Given the description of an element on the screen output the (x, y) to click on. 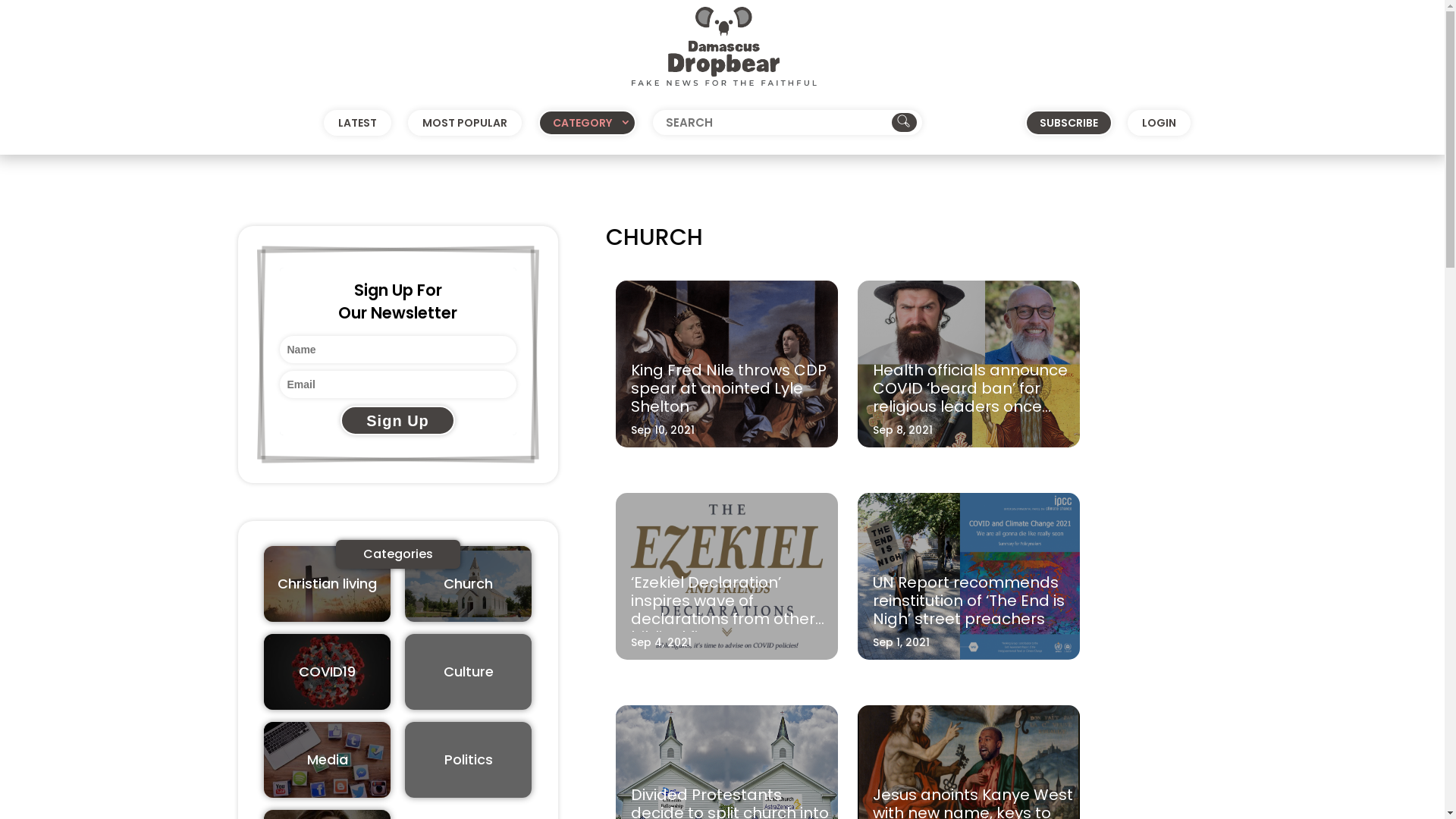
Politics Element type: text (467, 759)
Media Element type: text (326, 759)
SUBSCRIBE Element type: text (1068, 122)
Church Element type: text (467, 583)
Culture Element type: text (467, 671)
CATEGORY Element type: text (587, 122)
Christian living Element type: text (326, 583)
Sign Up Element type: text (397, 420)
COVID19 Element type: text (326, 671)
LATEST Element type: text (357, 122)
King Fred Nile throws CDP spear at anointed Lyle Shelton Element type: text (728, 388)
SEARCH FOR: Element type: text (787, 121)
LOGIN Element type: text (1157, 122)
MOST POPULAR Element type: text (464, 122)
